Given the description of an element on the screen output the (x, y) to click on. 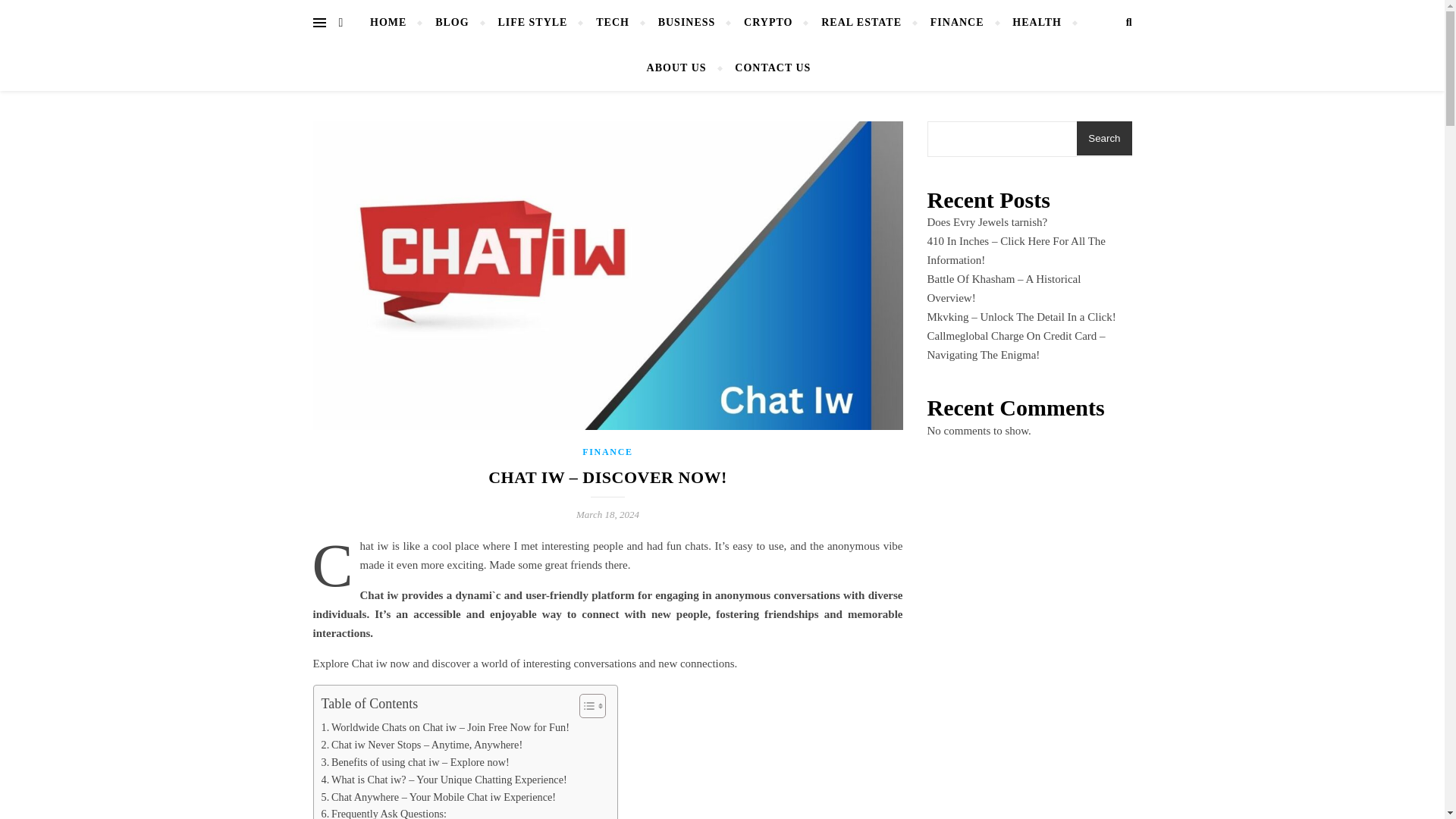
BLOG (451, 22)
Frequently Ask Questions: (383, 812)
HOME (394, 22)
BUSINESS (687, 22)
HEALTH (1036, 22)
CONTACT US (766, 67)
FINANCE (607, 451)
LIFE STYLE (531, 22)
CRYPTO (767, 22)
FINANCE (957, 22)
